Given the description of an element on the screen output the (x, y) to click on. 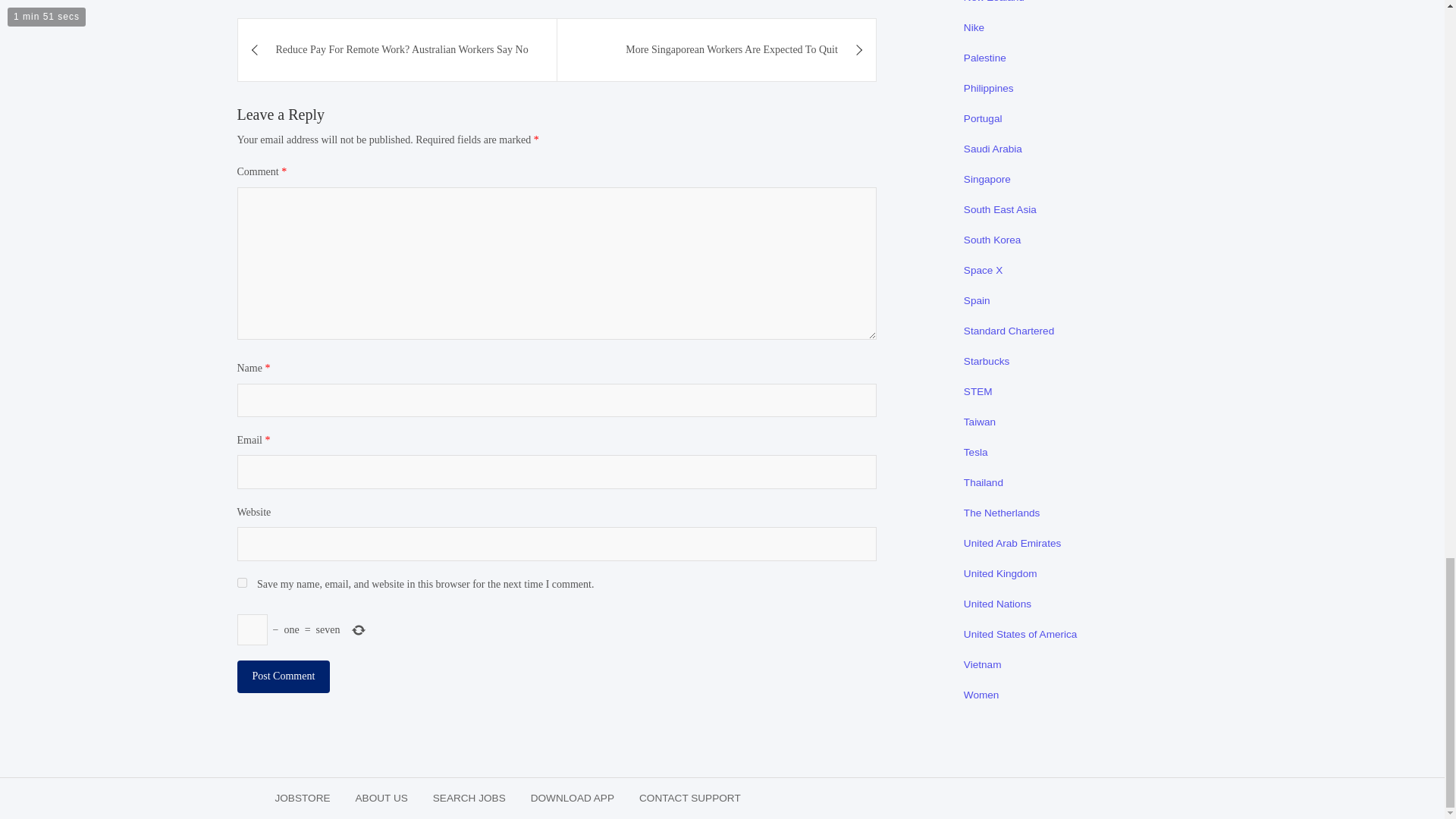
Post Comment (282, 676)
More Singaporean Workers Are Expected To Quit (716, 49)
yes (240, 583)
Reduce Pay For Remote Work? Australian Workers Say No (397, 49)
Post Comment (282, 676)
